Given the description of an element on the screen output the (x, y) to click on. 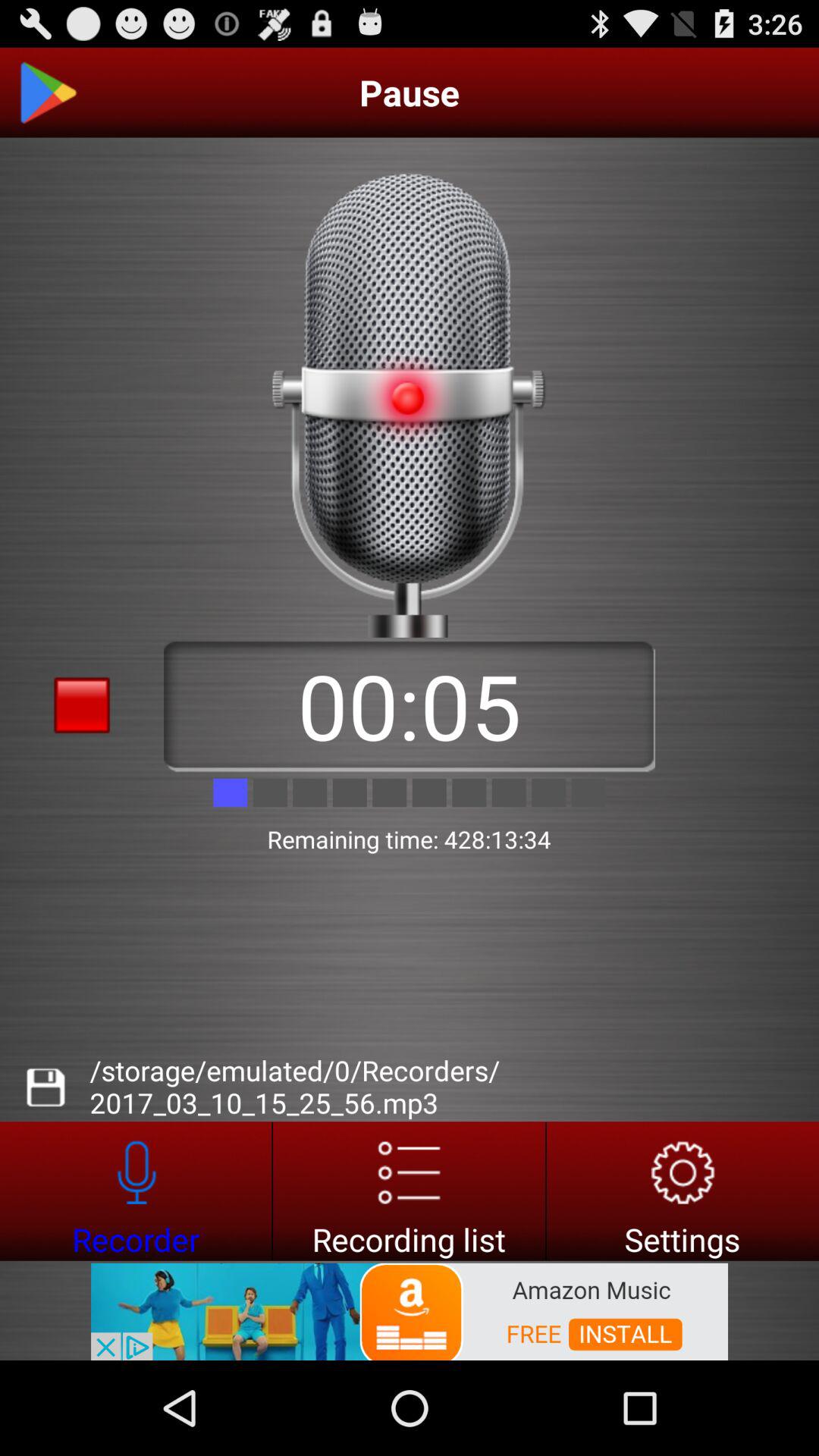
home (47, 92)
